Given the description of an element on the screen output the (x, y) to click on. 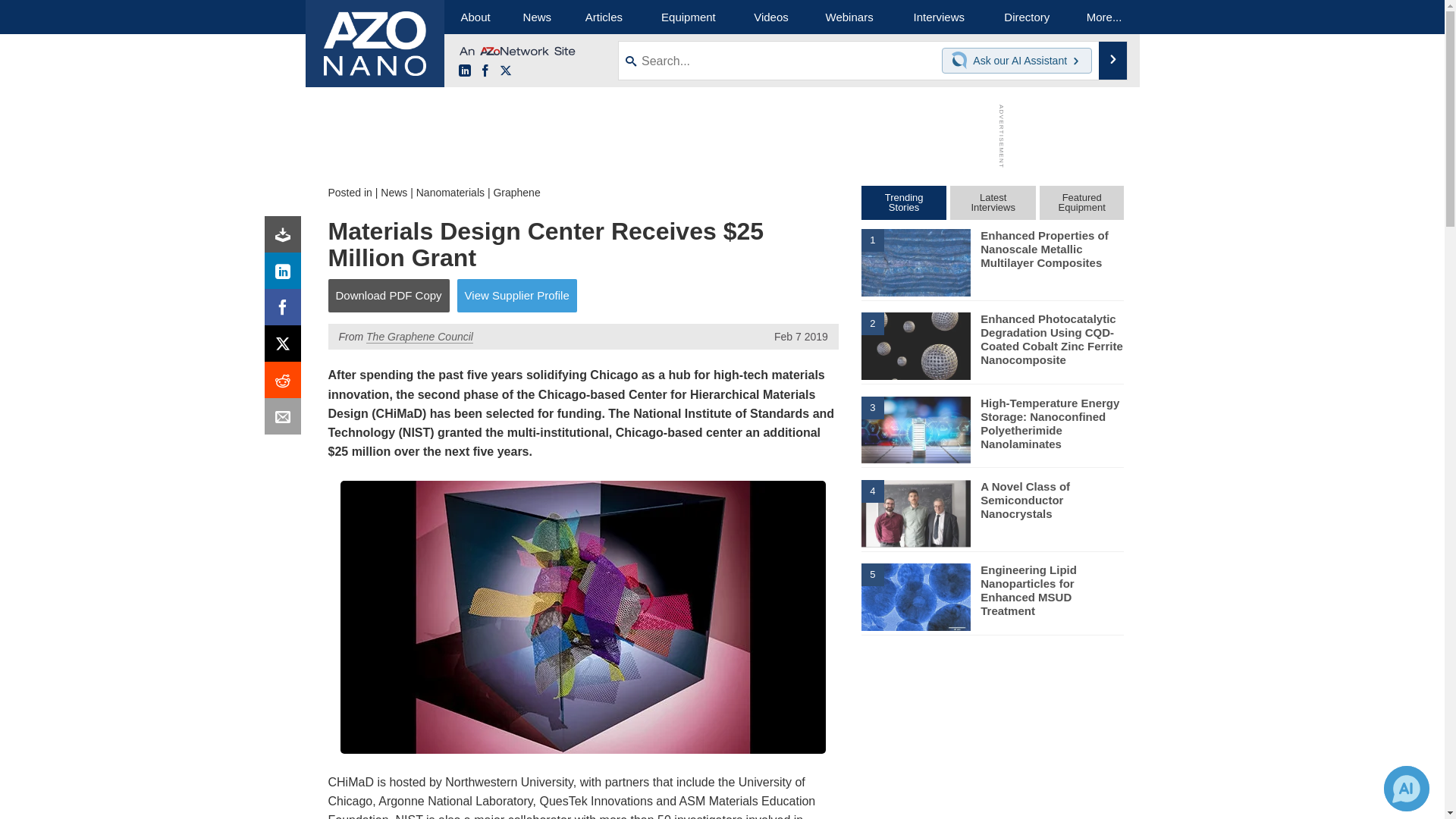
X (285, 348)
Email (285, 420)
Directory (1026, 17)
Facebook (485, 71)
More... (1104, 17)
X (505, 71)
Equipment (688, 17)
Chat with our AI Assistant (962, 60)
Reddit (285, 384)
Facebook (285, 311)
